Given the description of an element on the screen output the (x, y) to click on. 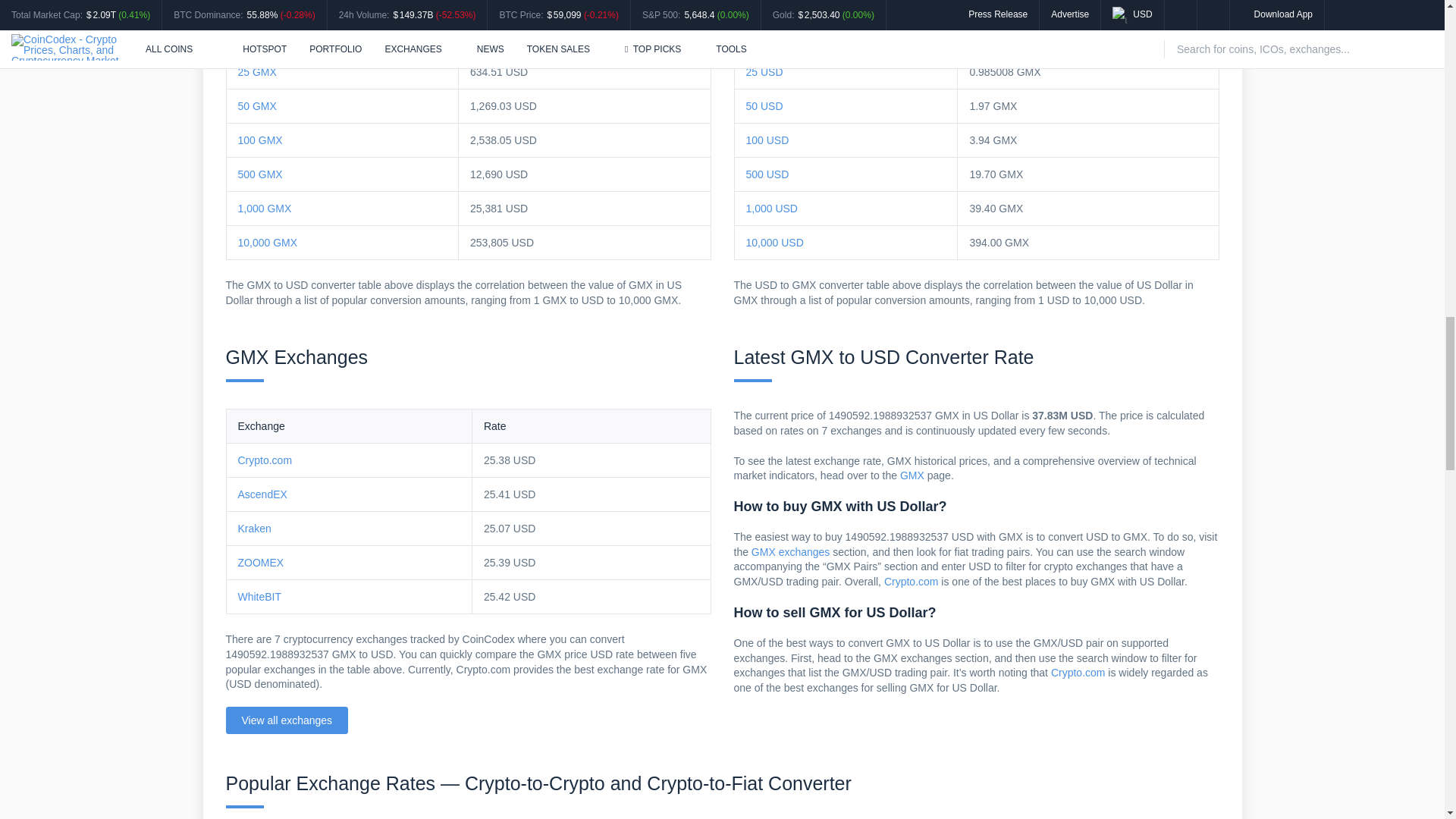
10 USD (764, 37)
10 GMX (257, 37)
1,000 USD (771, 208)
50 USD (764, 105)
500 GMX (260, 174)
5 USD (761, 4)
5 GMX (254, 4)
100 USD (767, 140)
25 USD (764, 71)
500 USD (767, 174)
